Given the description of an element on the screen output the (x, y) to click on. 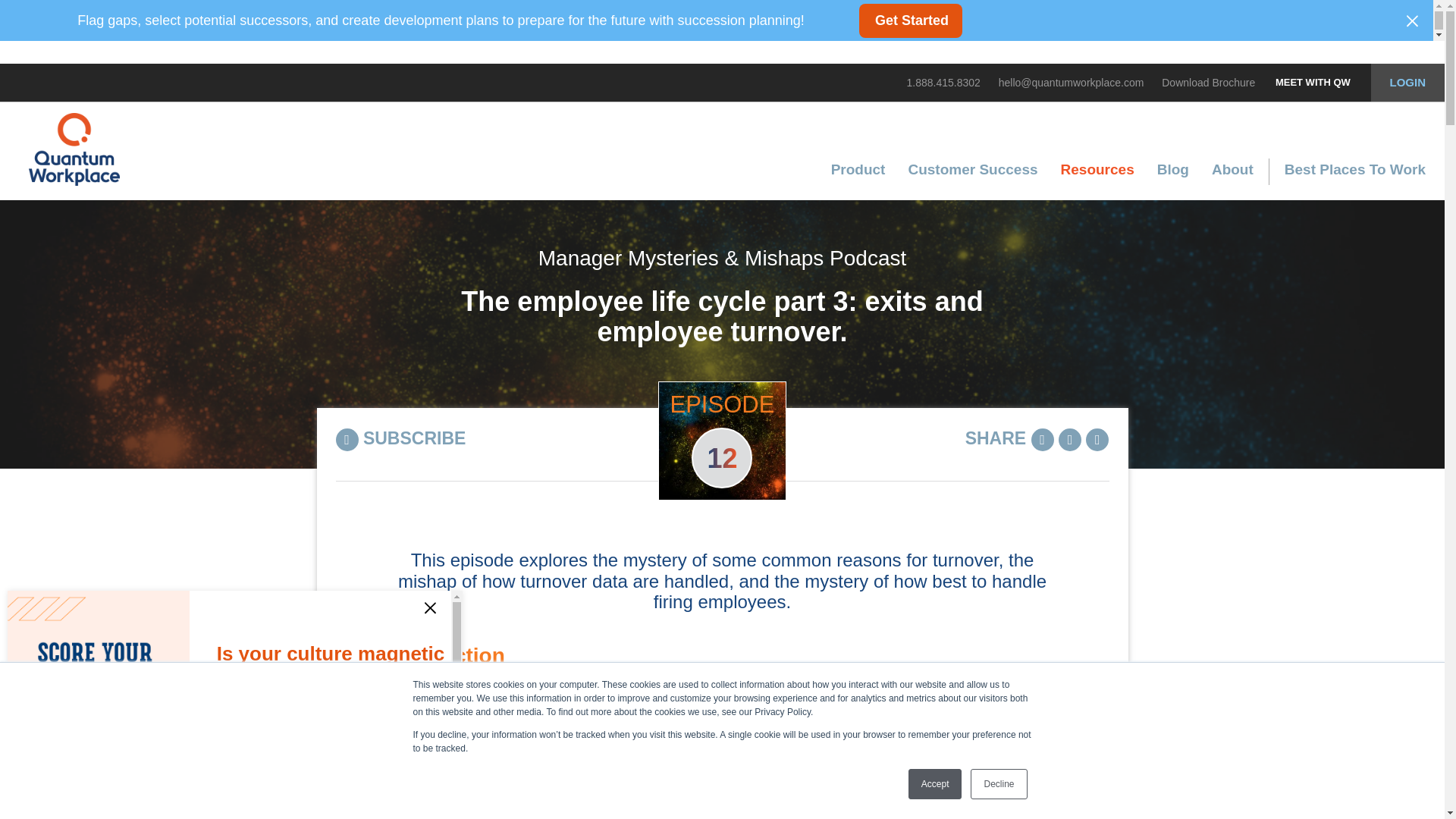
Decline (998, 784)
MEET WITH QW (1313, 82)
Popup CTA (235, 700)
Share on Facebook (1097, 439)
logo.png (74, 149)
Customer Success (972, 178)
1.888.415.8302 (943, 82)
Blog (1172, 178)
Product (857, 178)
Share on LinkedIn (1042, 439)
Tweet (1069, 439)
MEET WITH QW (1313, 82)
About (1232, 178)
Download Brochure (1208, 82)
Resources (1097, 178)
